Given the description of an element on the screen output the (x, y) to click on. 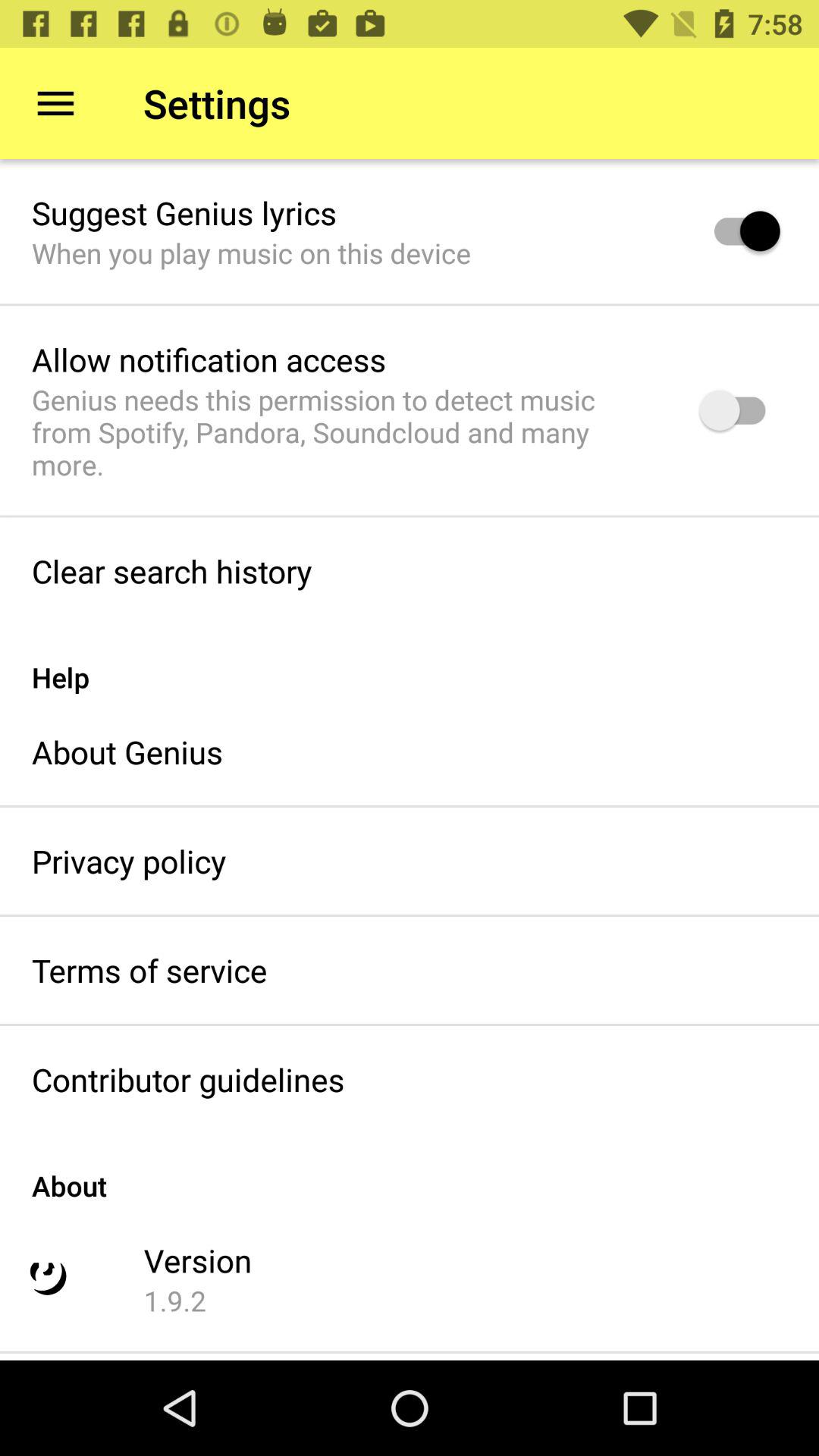
click item next to settings (55, 103)
